Given the description of an element on the screen output the (x, y) to click on. 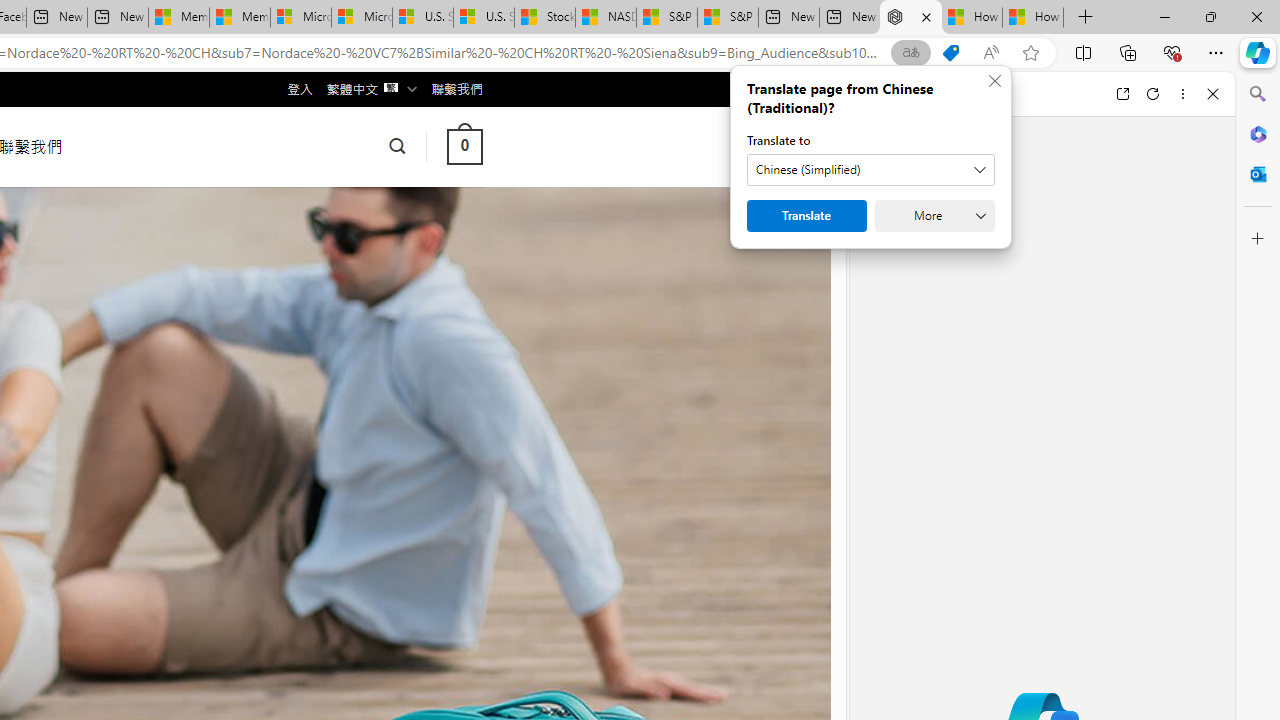
Customize (1258, 239)
This site has coupons! Shopping in Microsoft Edge (950, 53)
Translate (806, 215)
Open link in new tab (1122, 93)
S&P 500, Nasdaq end lower, weighed by Nvidia dip | Watch (727, 17)
